Given the description of an element on the screen output the (x, y) to click on. 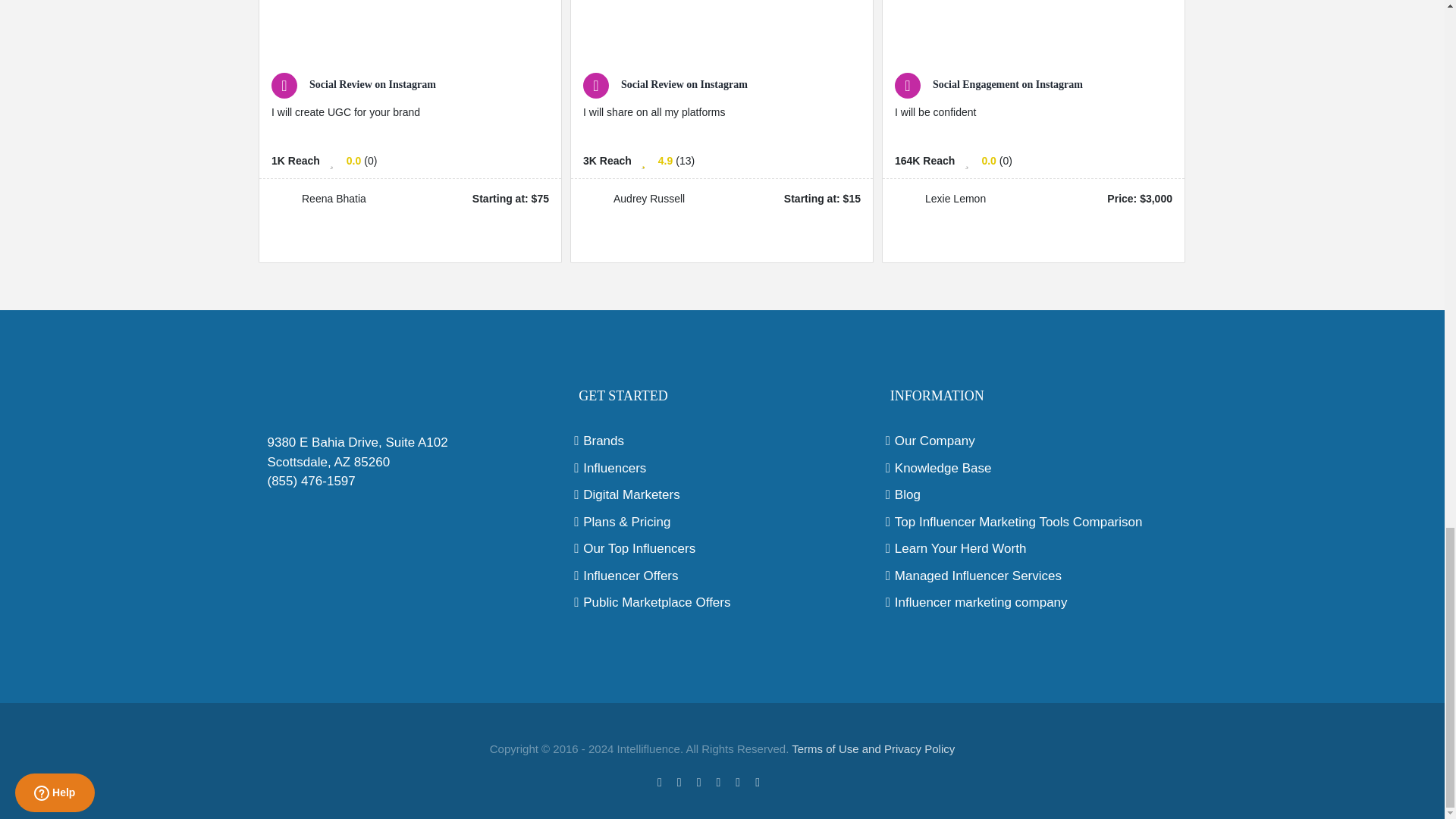
Our Company (1034, 441)
Number of reviews (684, 160)
Managed Influencer Services (1034, 576)
Star rating out of 5 (988, 160)
Brands (722, 441)
Learn Your Herd Worth (1034, 548)
Star rating out of 5 (353, 160)
Digital Marketers (722, 495)
Public Marketplace Offers (722, 602)
Star rating out of 5 (665, 160)
Our Top Influencers (722, 548)
Knowledge Base (1034, 468)
TikTok (780, 779)
Top Influencer Marketing Tools Comparison (1034, 522)
Influencers (722, 468)
